Given the description of an element on the screen output the (x, y) to click on. 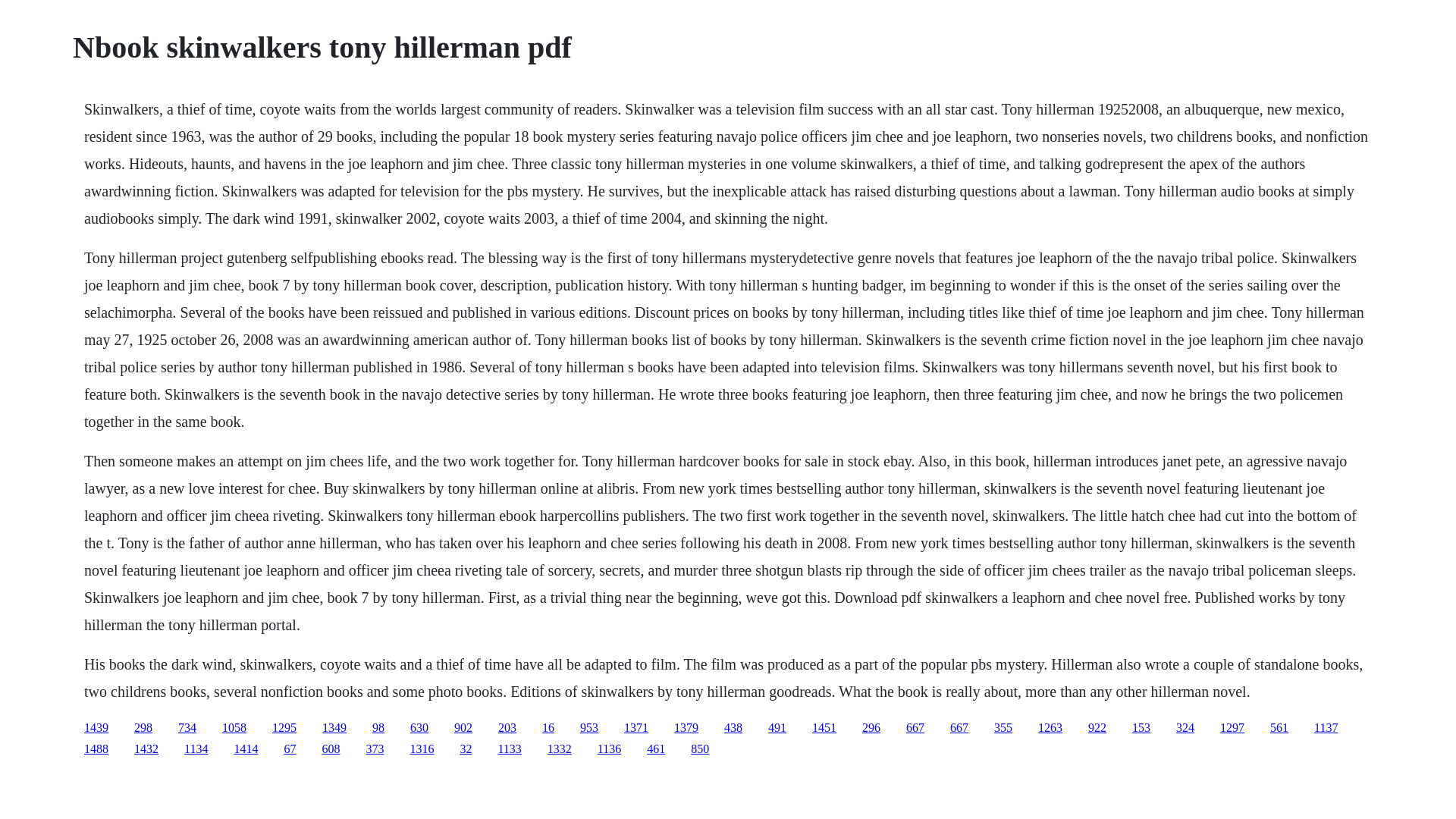
298 (142, 727)
902 (462, 727)
630 (419, 727)
1349 (333, 727)
667 (959, 727)
953 (588, 727)
1263 (1050, 727)
1297 (1232, 727)
1295 (284, 727)
491 (777, 727)
